Given the description of an element on the screen output the (x, y) to click on. 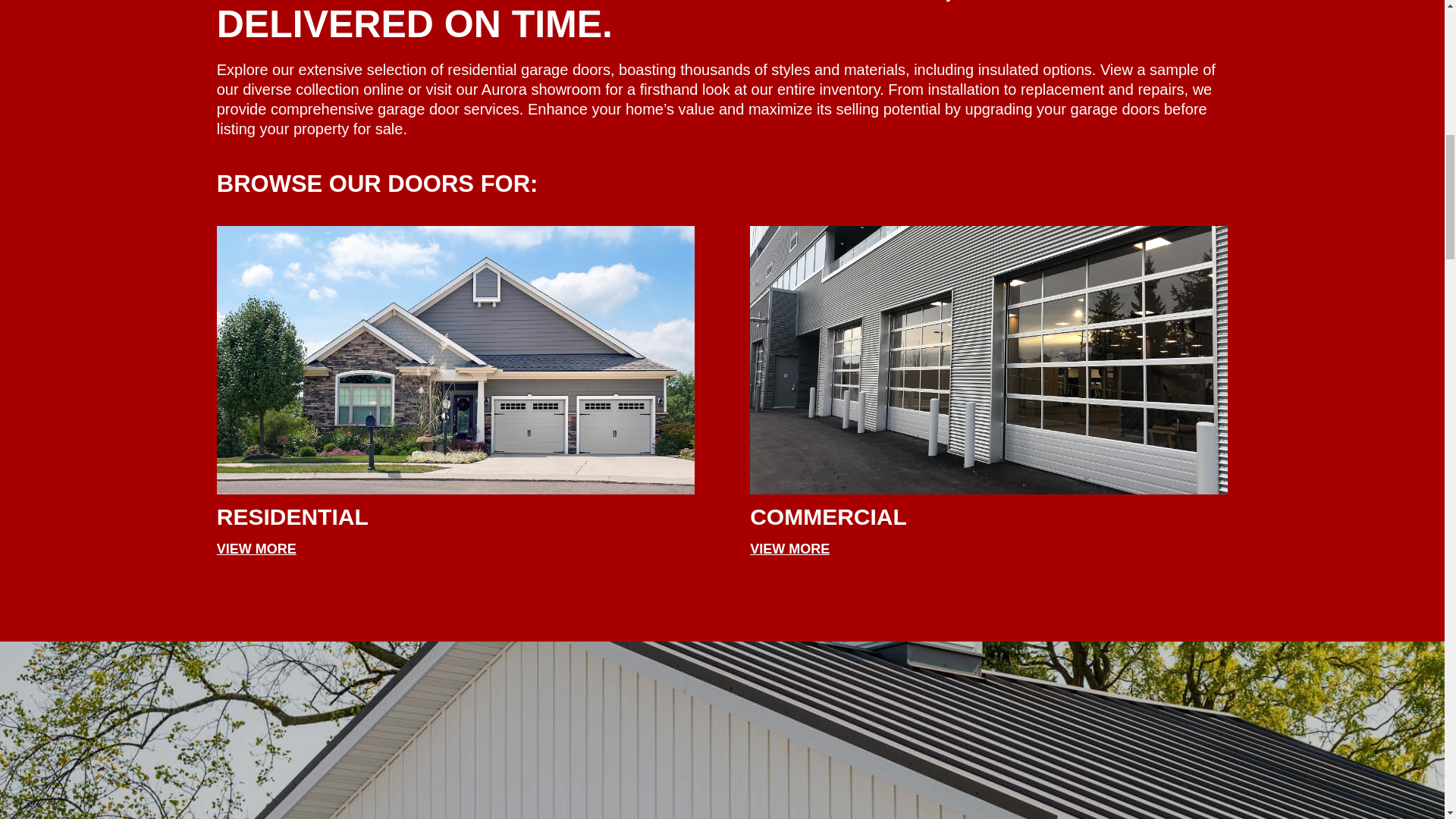
VIEW MORE (256, 549)
Residential door (455, 360)
commercial doors (988, 360)
VIEW MORE (789, 549)
